Given the description of an element on the screen output the (x, y) to click on. 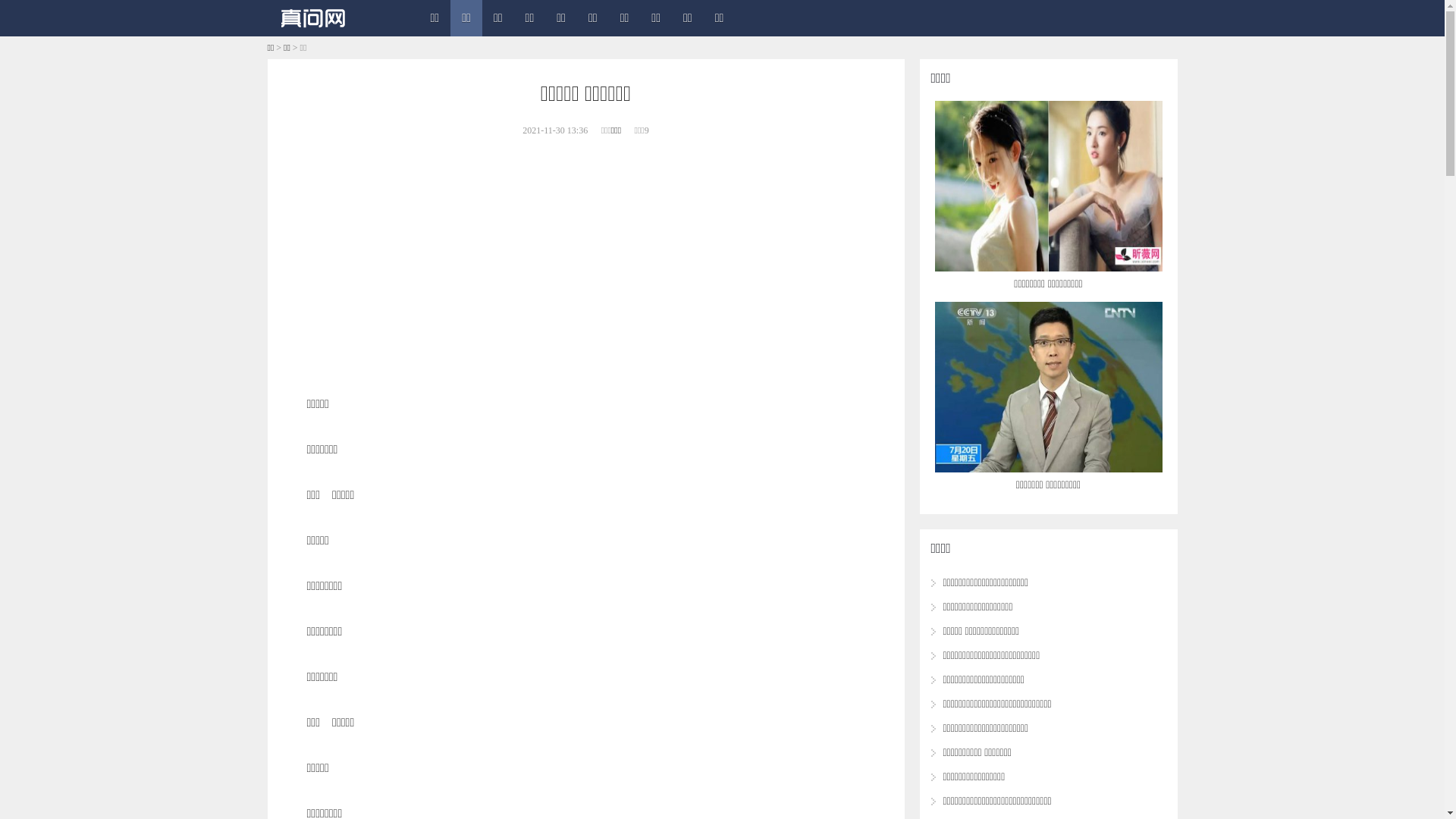
Advertisement Element type: hover (585, 263)
